Given the description of an element on the screen output the (x, y) to click on. 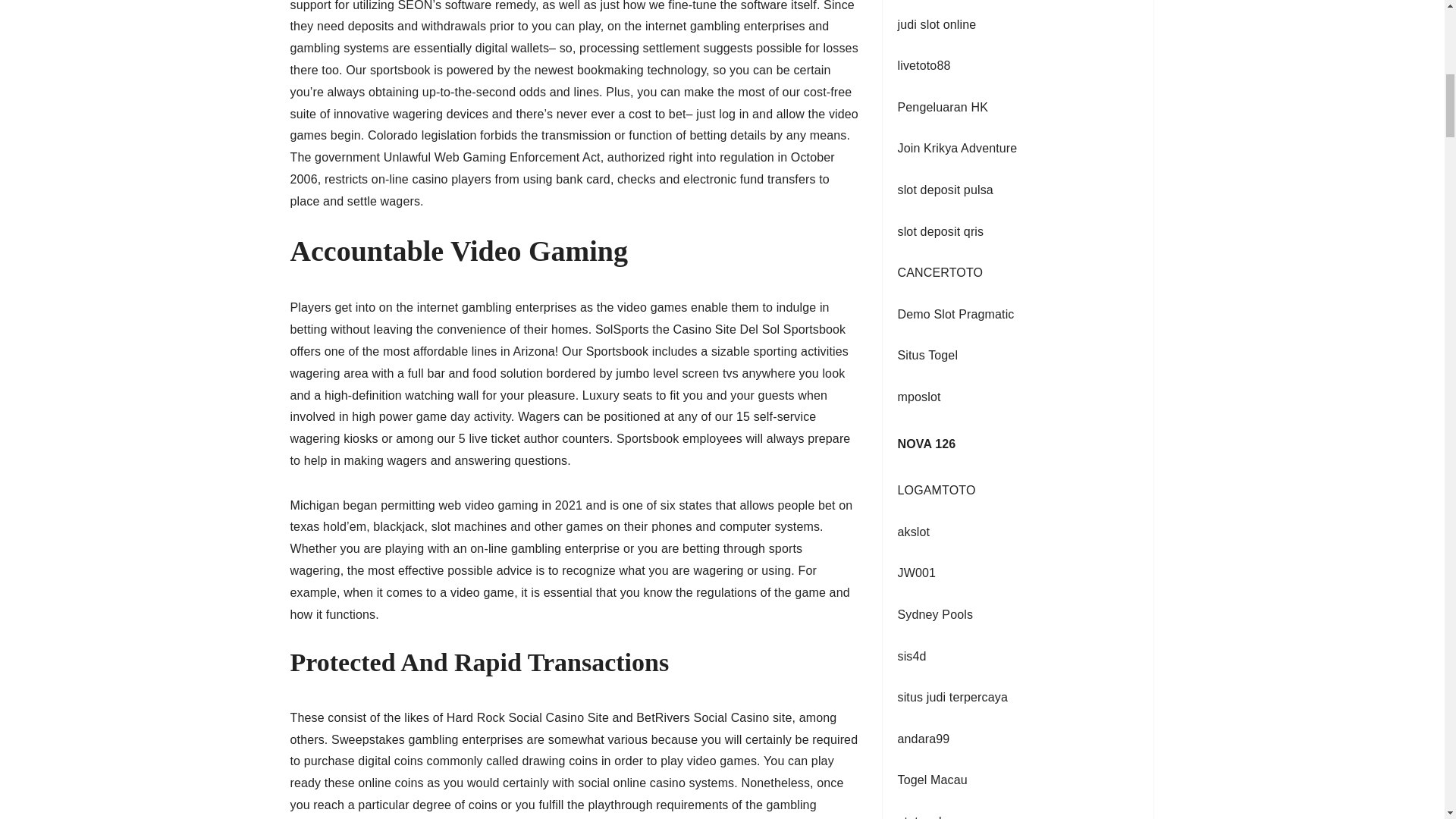
judi slot online (937, 24)
Pengeluaran HK (943, 106)
slot deposit pulsa (945, 189)
slot deposit qris (941, 231)
livetoto88 (924, 65)
Join Krikya Adventure (957, 147)
CANCERTOTO (941, 272)
